Given the description of an element on the screen output the (x, y) to click on. 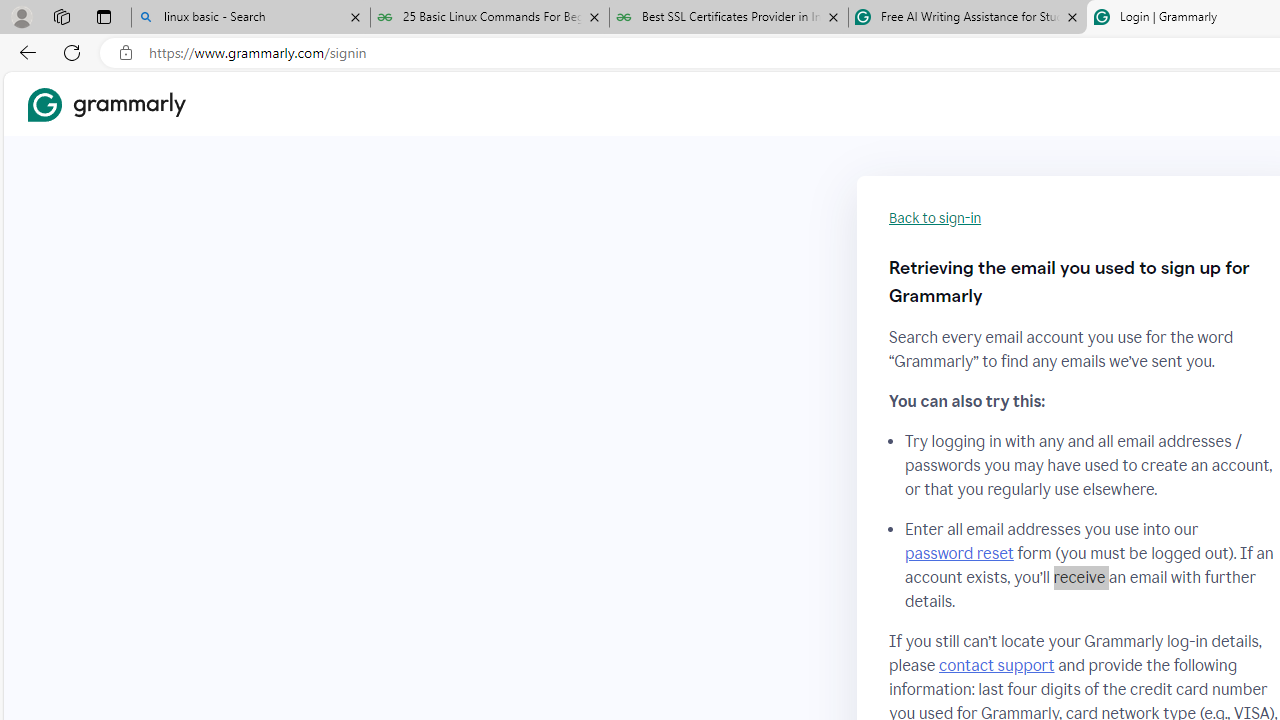
Back to sign-in (935, 218)
linux basic - Search (250, 17)
Best SSL Certificates Provider in India - GeeksforGeeks (729, 17)
Grammarly Home (106, 104)
25 Basic Linux Commands For Beginners - GeeksforGeeks (490, 17)
password reset (958, 553)
Free AI Writing Assistance for Students | Grammarly (967, 17)
contact support (996, 665)
Grammarly Home (106, 103)
